Given the description of an element on the screen output the (x, y) to click on. 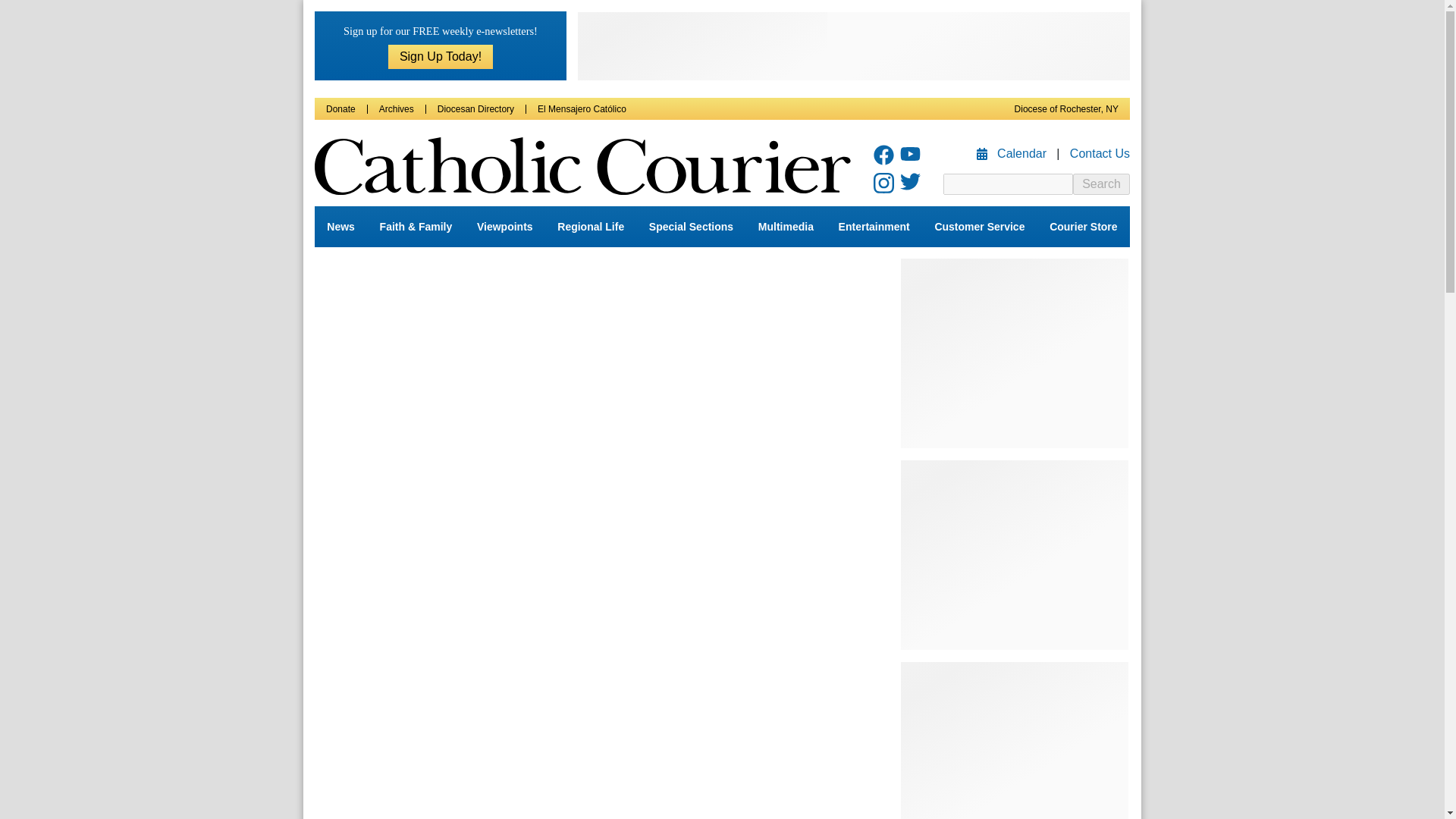
Contact Us (1099, 153)
Diocesan Directory (475, 108)
News (340, 226)
  Calendar (1012, 153)
Special Sections (691, 226)
Silent Hill: Revelation 3D (590, 535)
Search (1101, 183)
Search (1101, 183)
Search (1101, 183)
Archives (395, 108)
